Given the description of an element on the screen output the (x, y) to click on. 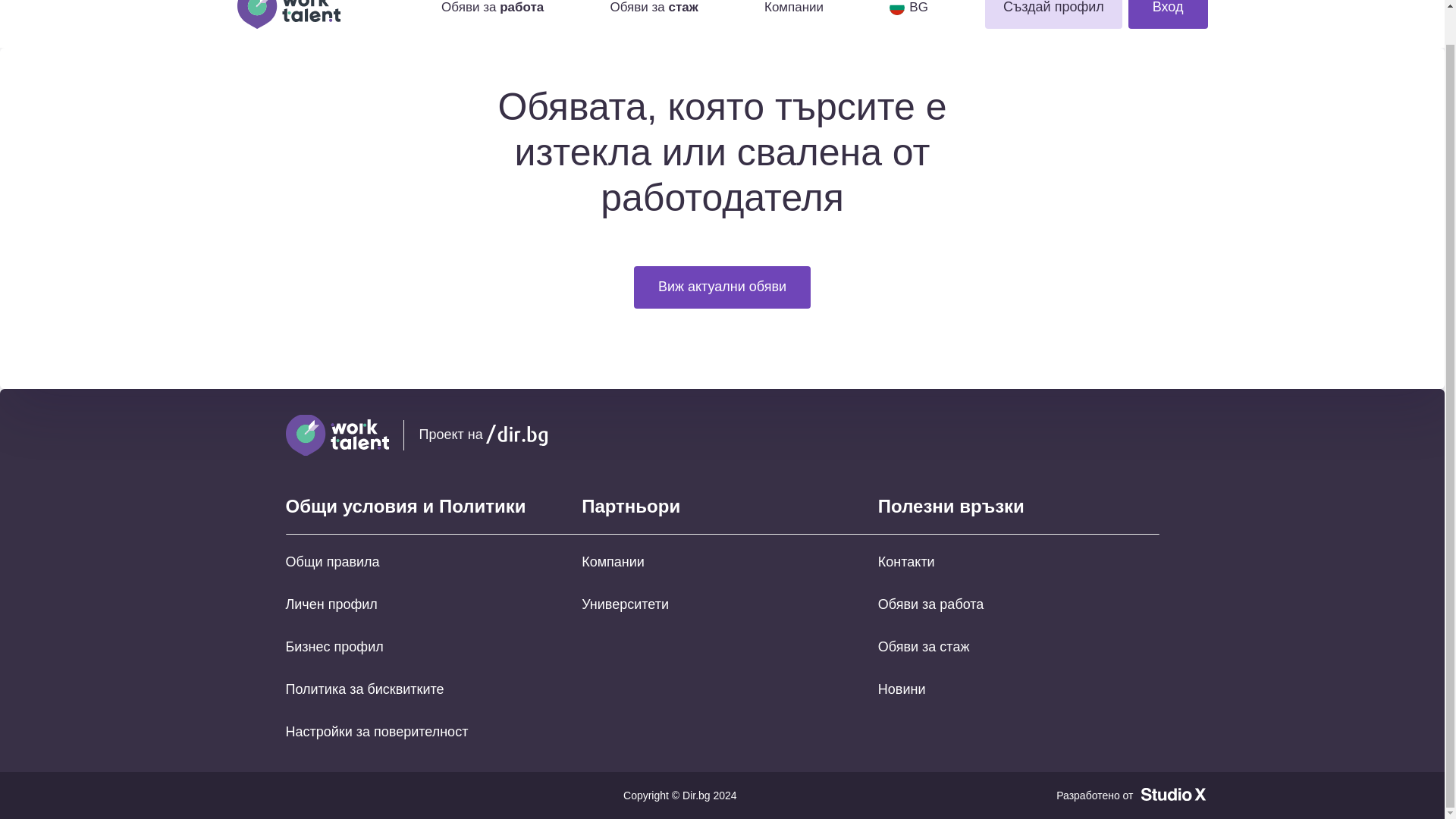
BG (908, 8)
Work Talent (336, 434)
dir.bg (516, 435)
Work Talent (310, 14)
Studio X (1173, 793)
Facebook (1091, 435)
LinkedIn (1146, 435)
